Given the description of an element on the screen output the (x, y) to click on. 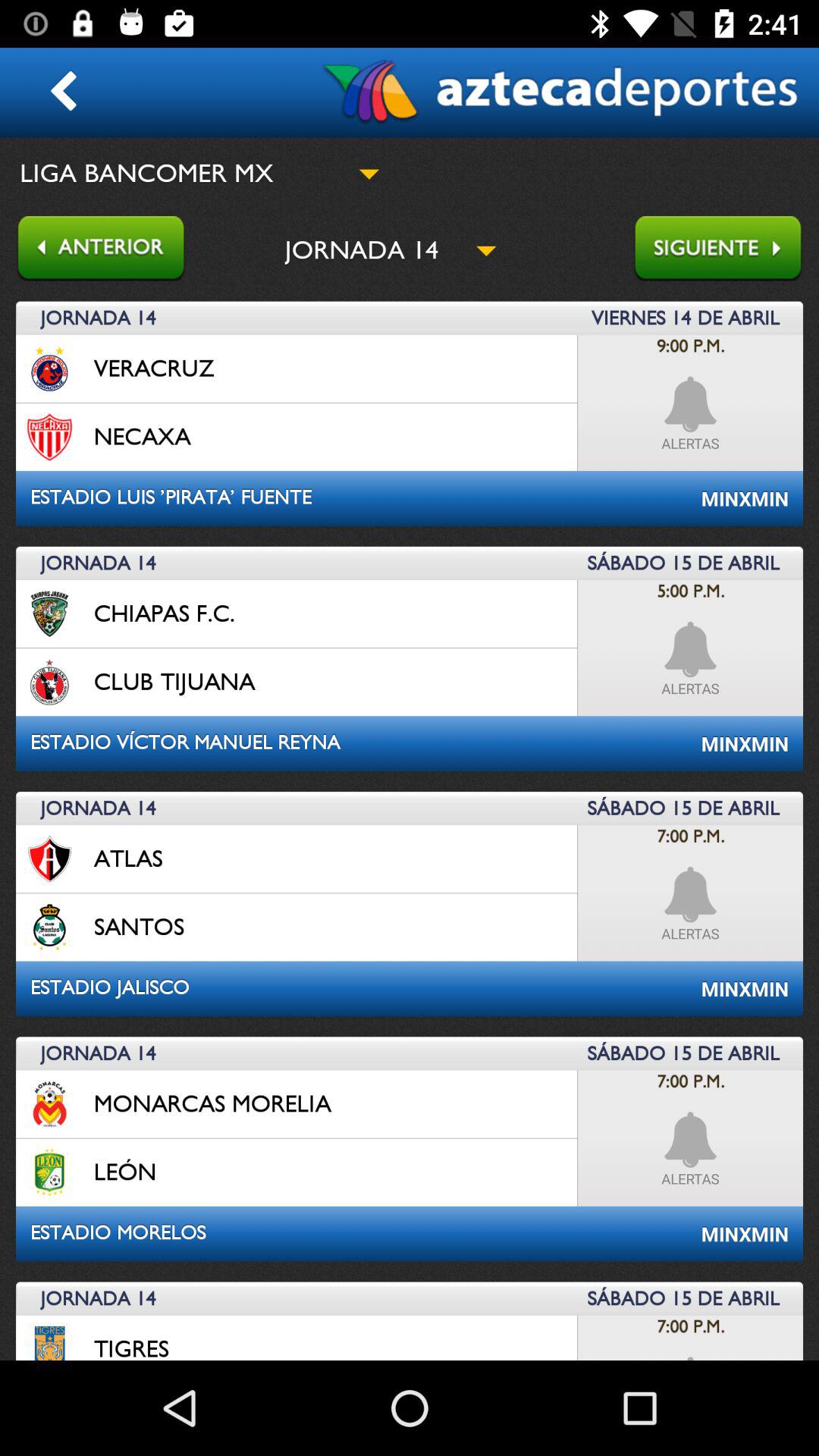
return to previous (92, 249)
